Given the description of an element on the screen output the (x, y) to click on. 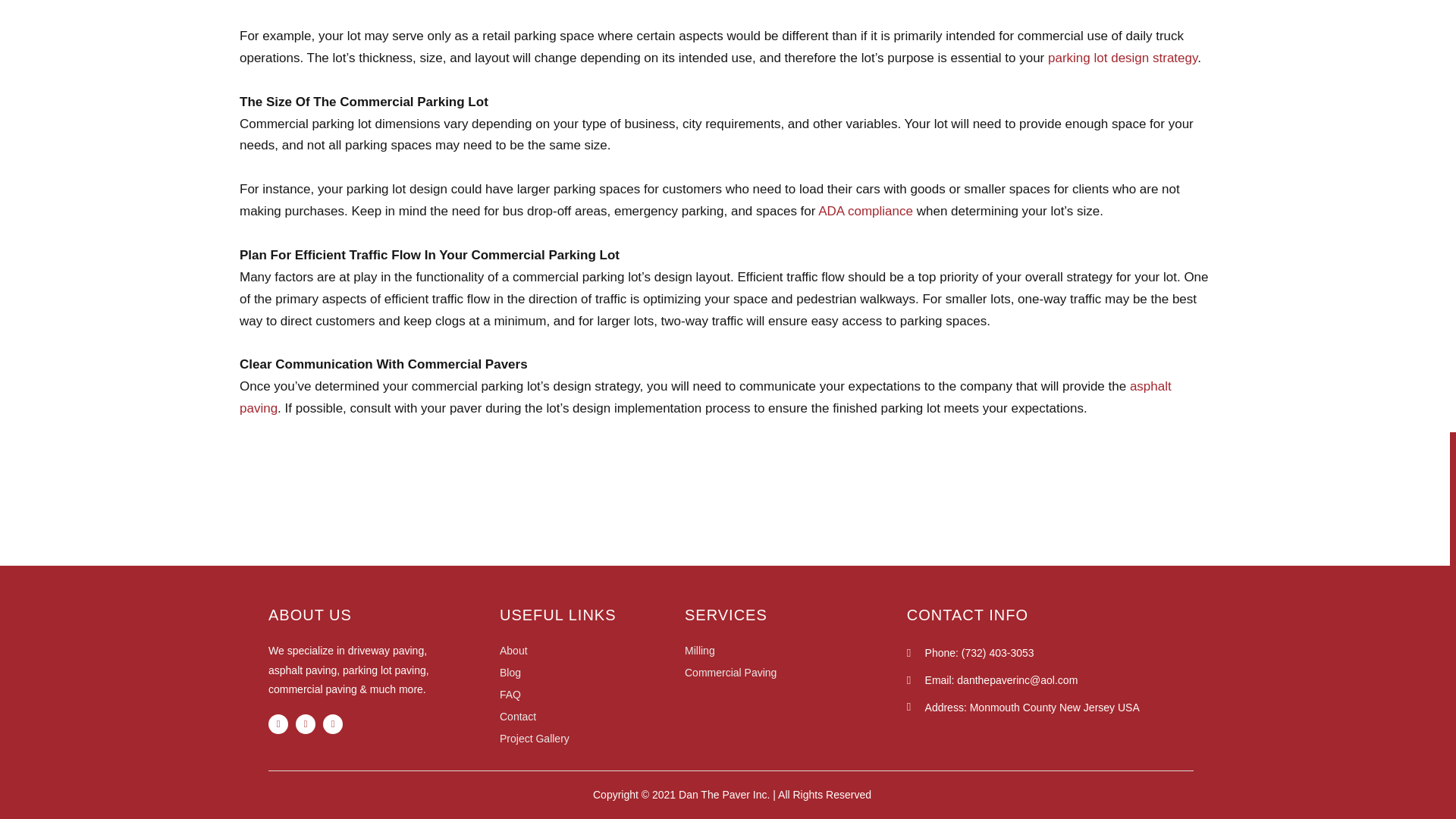
asphalt paving (706, 397)
Commercial Paving (795, 672)
Contact (591, 716)
ADA compliance (865, 210)
About (591, 650)
Blog (591, 672)
FAQ (591, 694)
parking lot design strategy (1122, 57)
Milling (795, 650)
Project Gallery (591, 738)
